Given the description of an element on the screen output the (x, y) to click on. 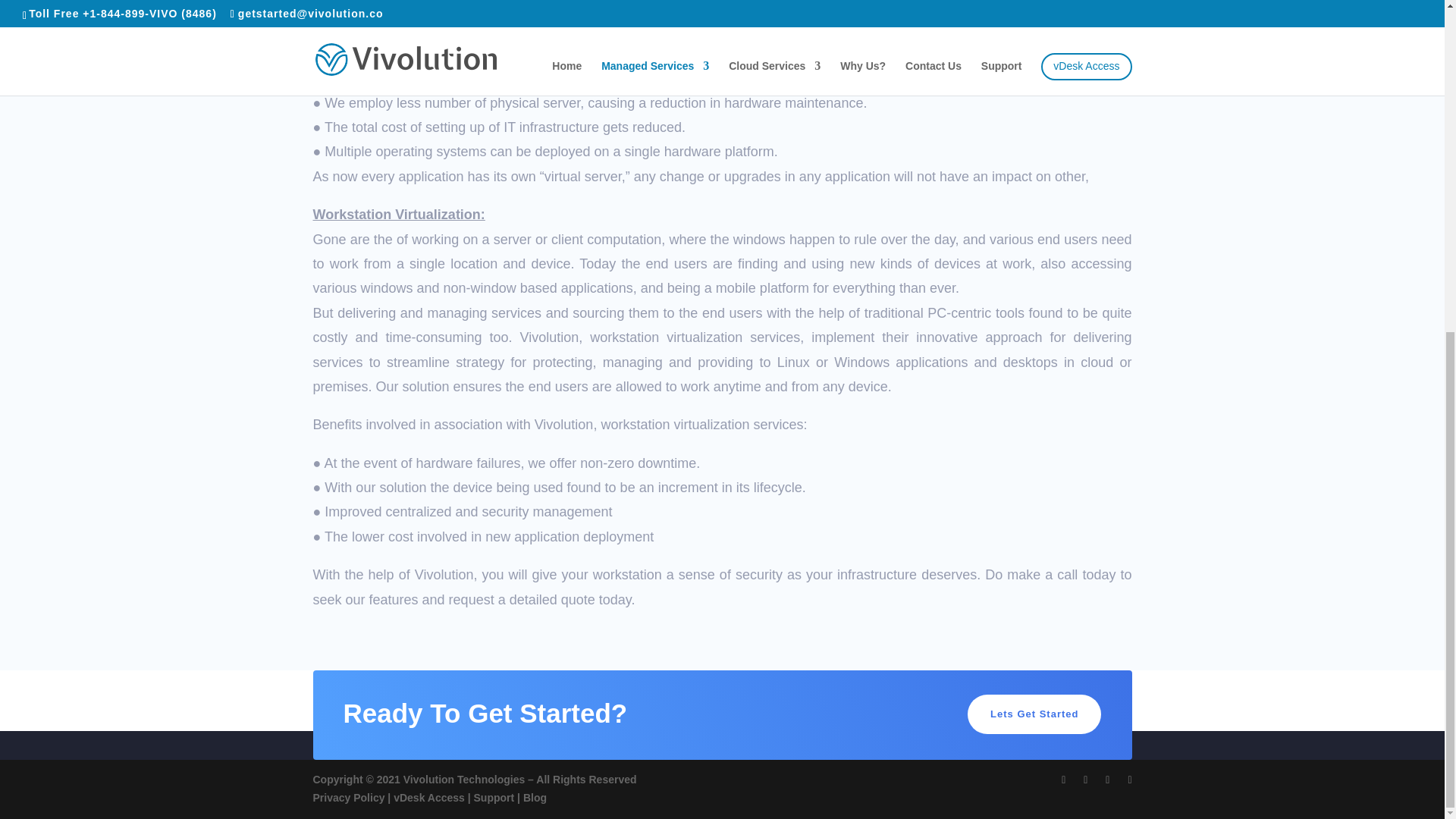
vDesk Access (428, 797)
Lets Get Started (1034, 713)
Support (494, 797)
Blog (534, 797)
Privacy Policy (348, 797)
